Given the description of an element on the screen output the (x, y) to click on. 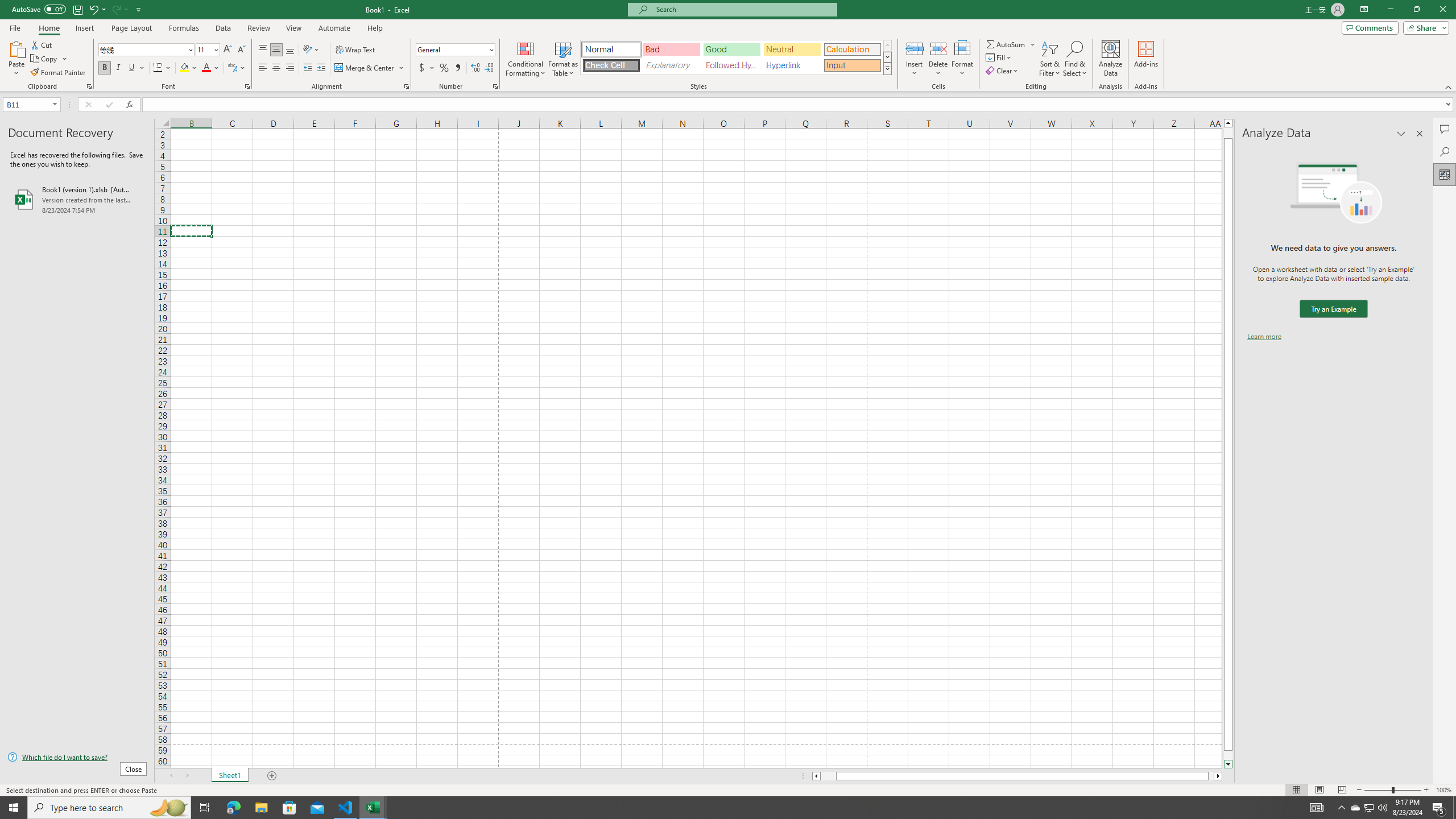
Show Phonetic Field (231, 67)
Fill (999, 56)
Top Align (262, 49)
Office Clipboard... (88, 85)
Align Right (290, 67)
Font (147, 49)
Font Size (207, 49)
Bottom Border (157, 67)
Font Size (204, 49)
